Given the description of an element on the screen output the (x, y) to click on. 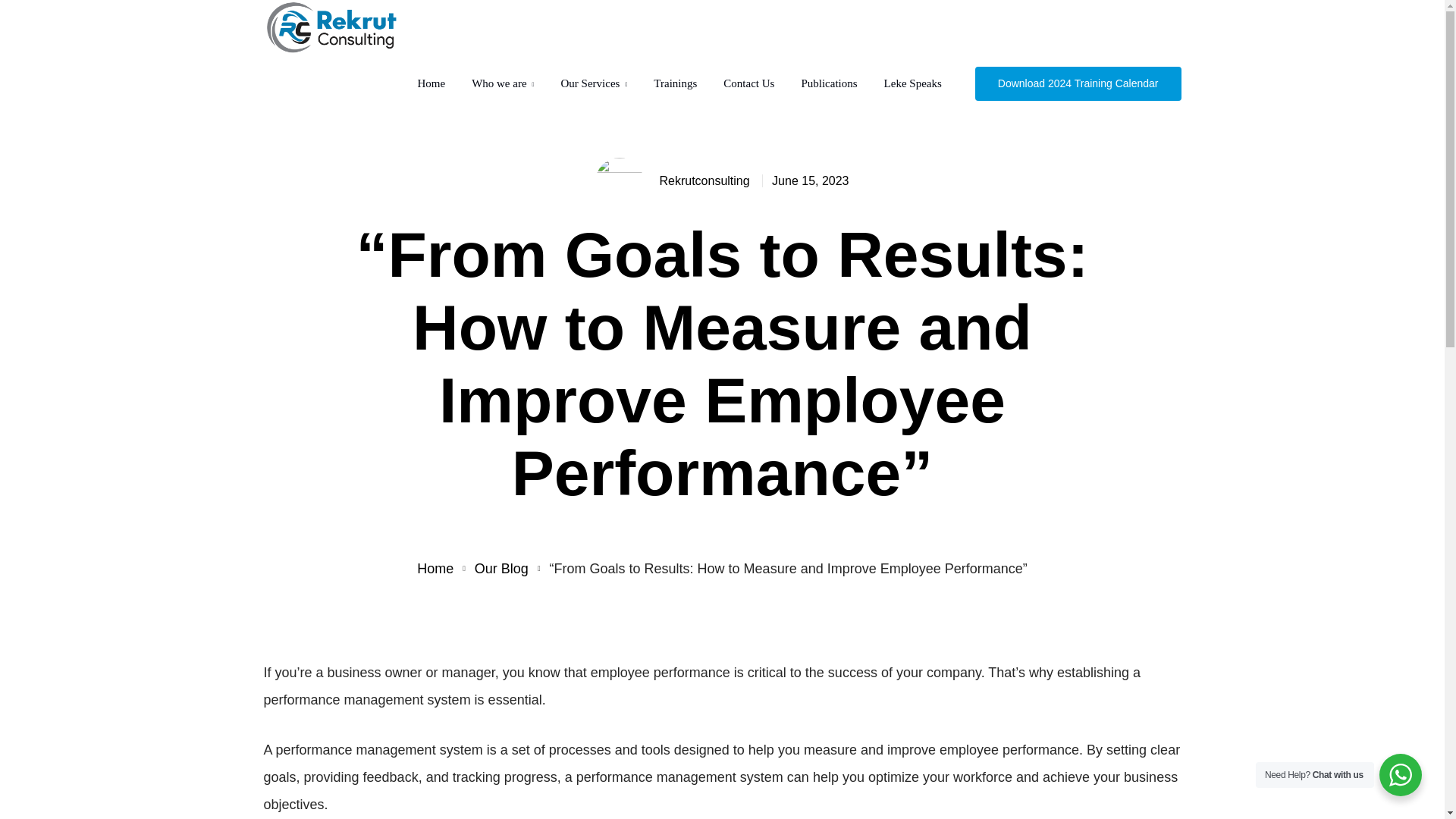
Contact Us (748, 83)
Publications (828, 83)
Home (434, 568)
Who we are (502, 84)
Our Blog (501, 568)
Our Services (593, 84)
Download 2024 Training Calendar (1077, 83)
Leke Speaks (912, 83)
